Given the description of an element on the screen output the (x, y) to click on. 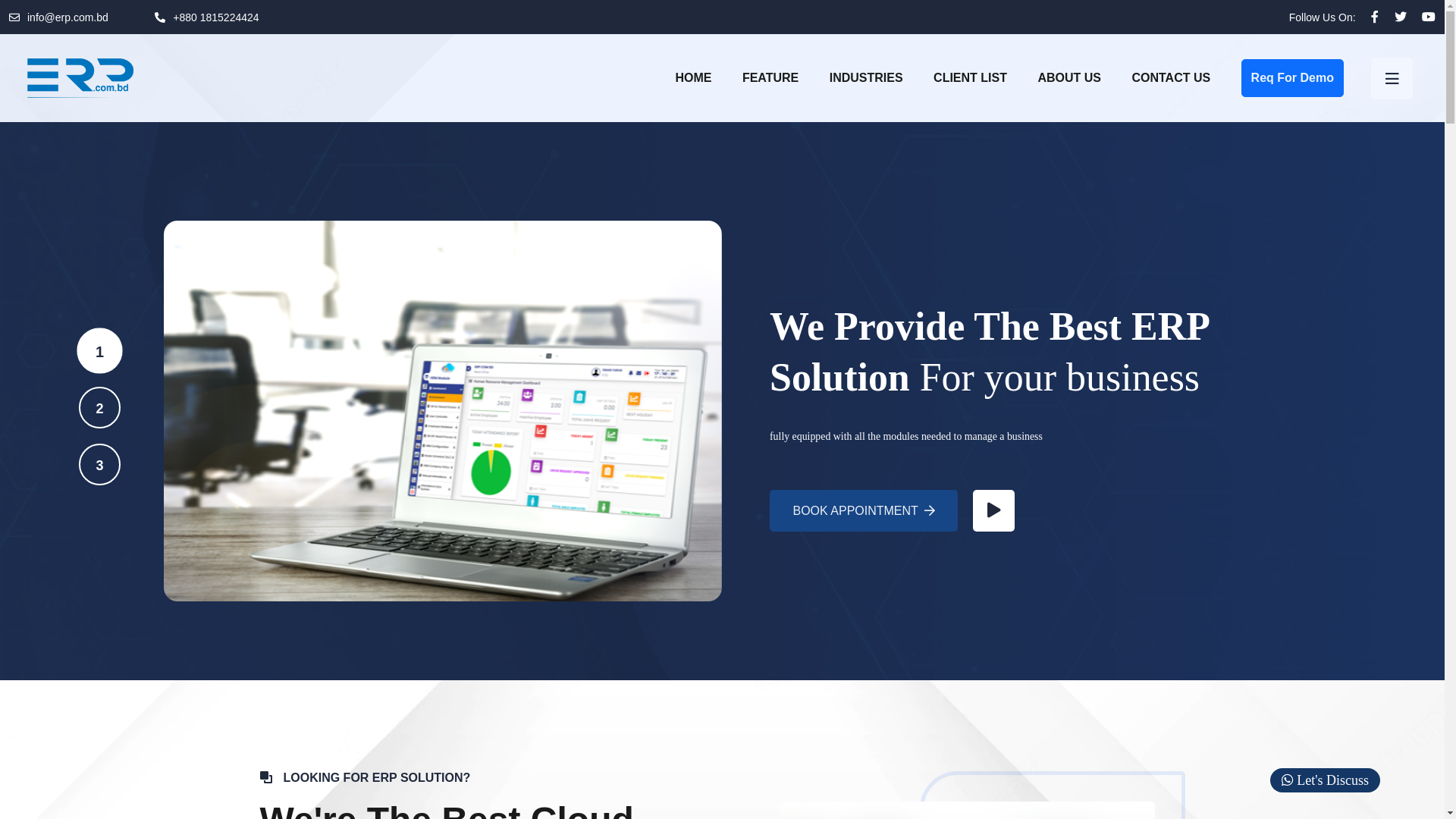
FEATURE Element type: text (770, 78)
Let's Discuss Element type: text (1325, 780)
+880 1815224424 Element type: text (215, 16)
HOME Element type: text (692, 78)
2 Element type: text (99, 407)
Req For Demo Element type: text (1292, 78)
3 Element type: text (97, 462)
info@erp.com.bd Element type: text (67, 16)
BOOK APPOINTMENT Element type: text (863, 510)
ABOUT US Element type: text (1069, 78)
INDUSTRIES Element type: text (866, 78)
CLIENT LIST Element type: text (970, 78)
CONTACT US Element type: text (1170, 78)
1 Element type: text (99, 350)
